Given the description of an element on the screen output the (x, y) to click on. 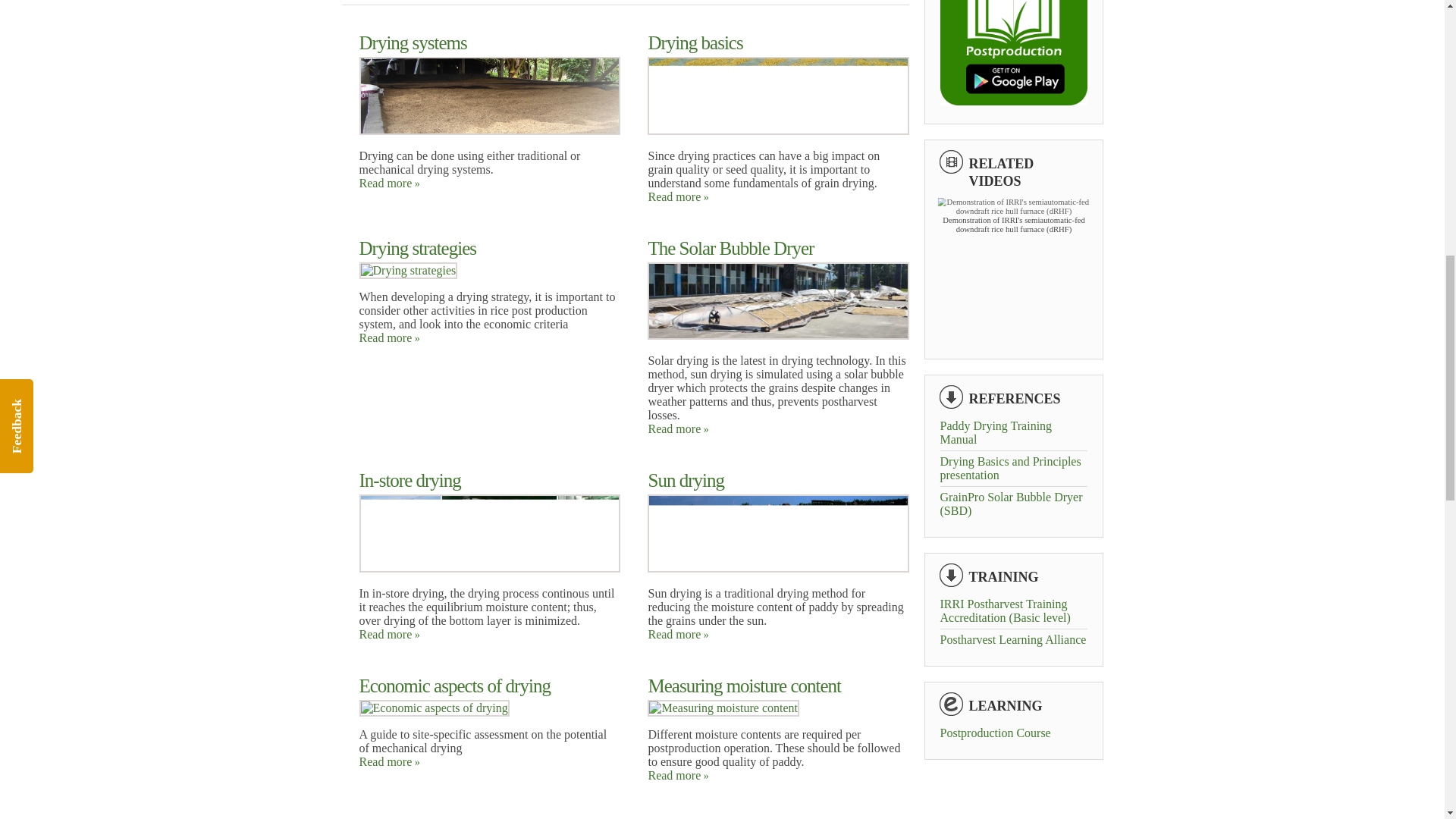
Drying strategies (408, 270)
Drying systems (490, 130)
Drying strategies (408, 269)
Drying basics (694, 42)
Drying basics (777, 130)
The Solar Bubble Dryer (730, 248)
The Solar Bubble Dryer (777, 335)
Drying systems (413, 42)
The Solar Bubble Dryer (777, 301)
Drying basics (777, 95)
